Given the description of an element on the screen output the (x, y) to click on. 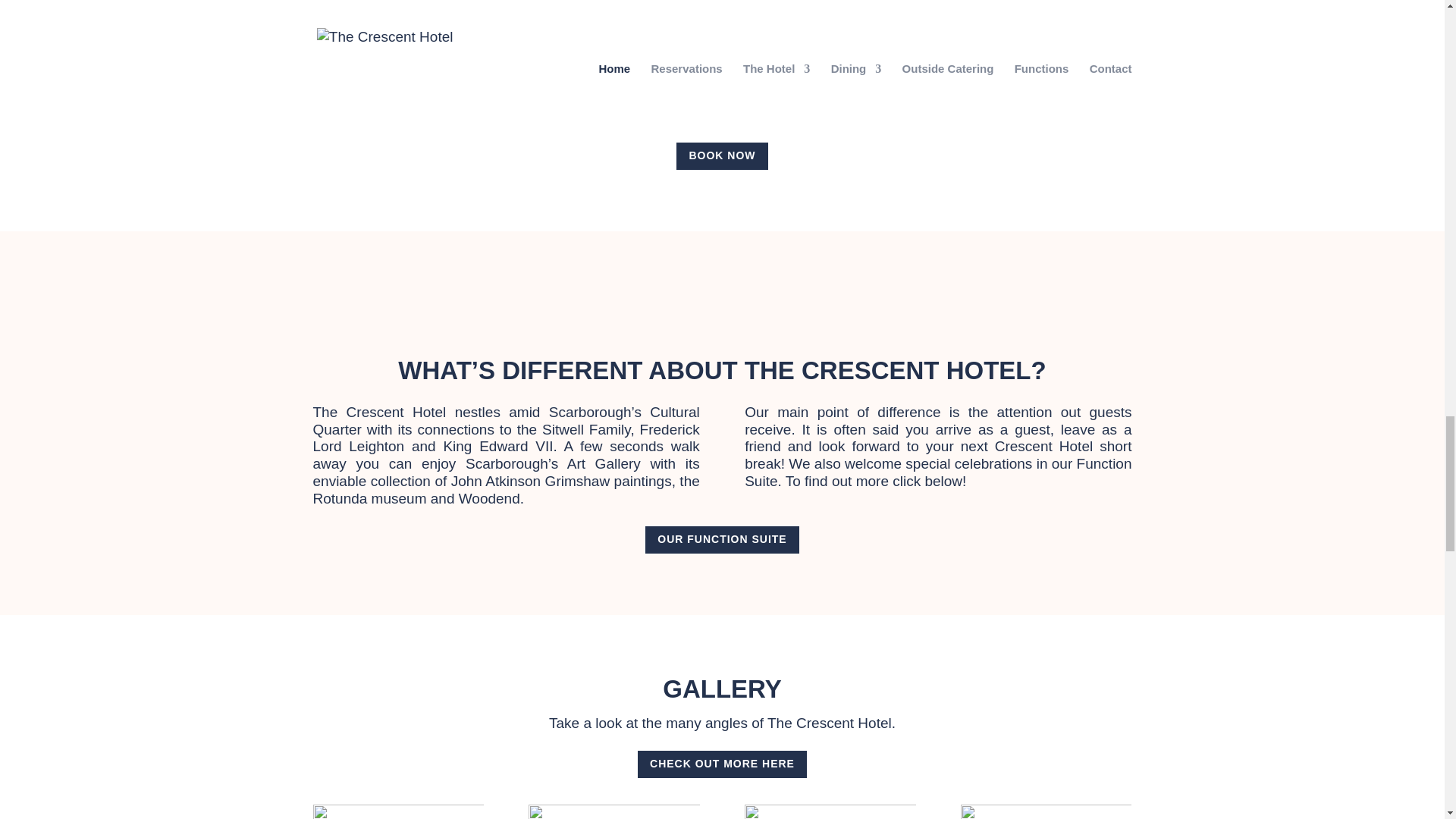
homepage gallery-04 (1045, 811)
homepage gallery-01 (398, 811)
CHECK OUT MORE HERE (721, 764)
BOOK NOW (722, 155)
more food-05 (1009, 50)
OUR FUNCTION SUITE (721, 539)
more food-03 (433, 50)
more food-02 (721, 50)
homepage gallery-02 (613, 811)
homepage gallery-03 (829, 811)
